Given the description of an element on the screen output the (x, y) to click on. 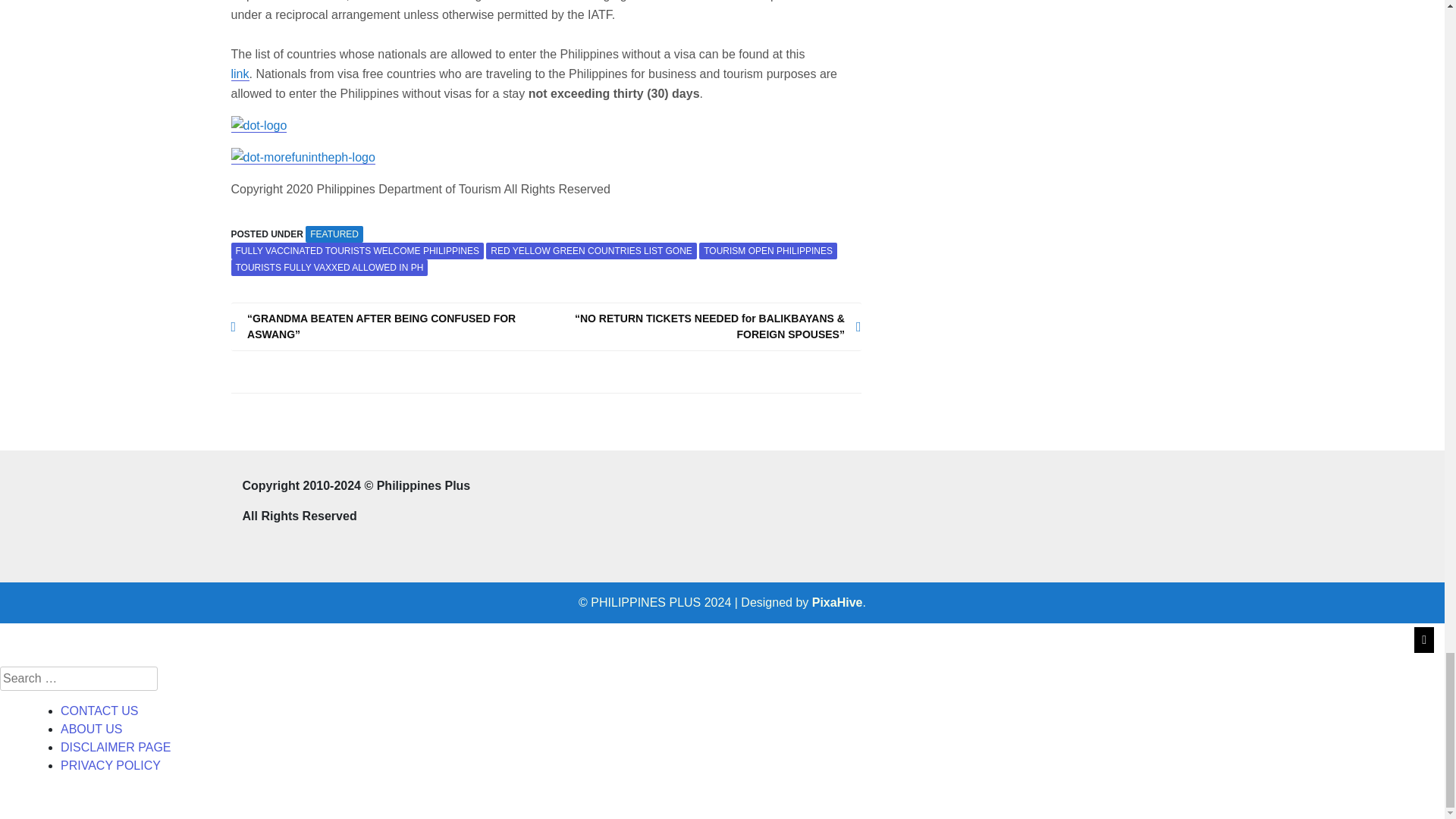
FULLY VACCINATED TOURISTS WELCOME PHILIPPINES (356, 250)
link (517, 83)
TOURISTS FULLY VAXXED ALLOWED IN PH (329, 267)
FEATURED (333, 234)
PRIVACY POLICY (110, 765)
TOURISM OPEN PHILIPPINES (767, 250)
PixaHive (837, 602)
DISCLAIMER PAGE (116, 747)
RED YELLOW GREEN COUNTRIES LIST GONE (591, 250)
CONTACT US (99, 710)
ABOUT US (91, 728)
